Given the description of an element on the screen output the (x, y) to click on. 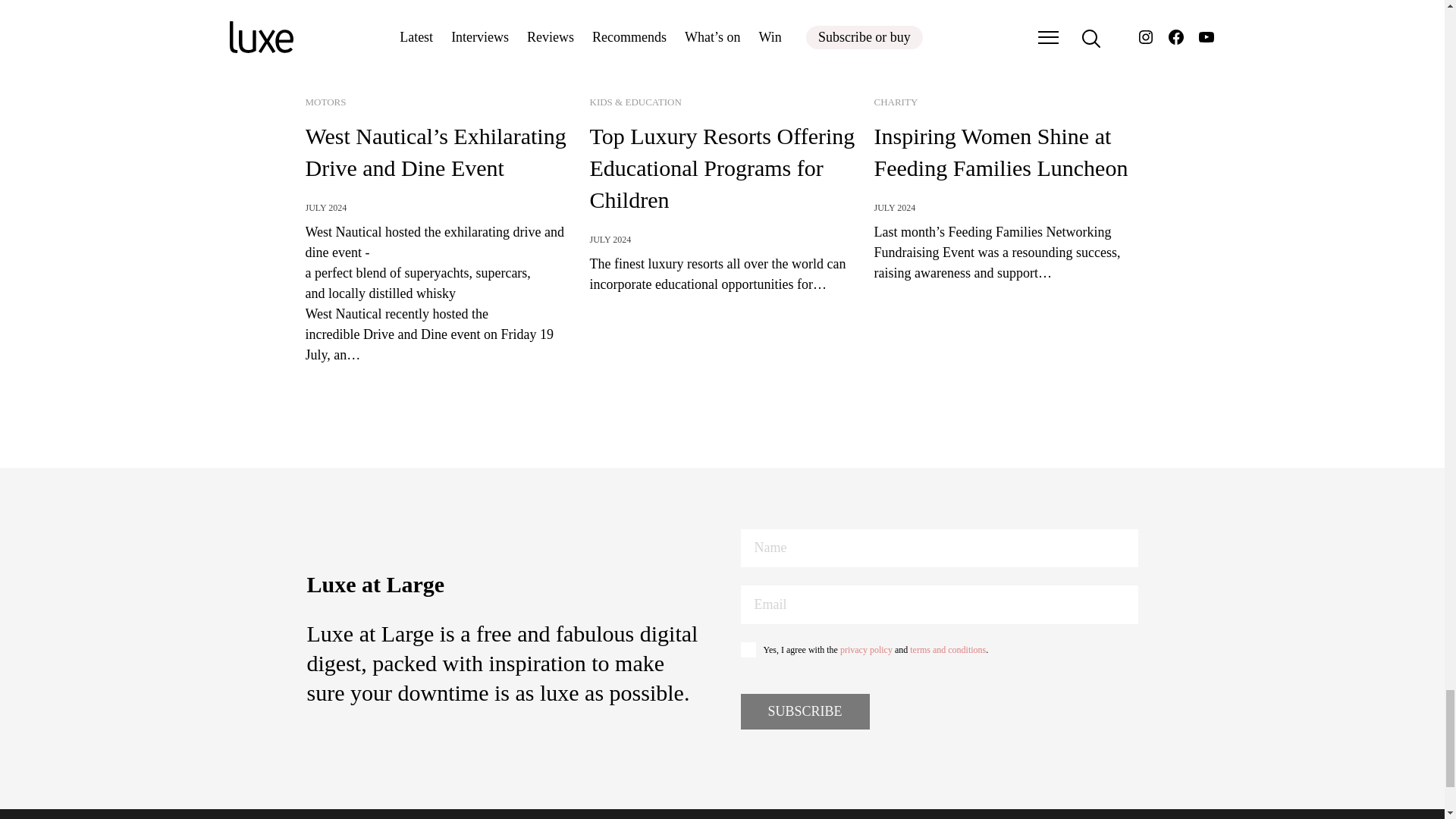
MOTORS (325, 101)
